Given the description of an element on the screen output the (x, y) to click on. 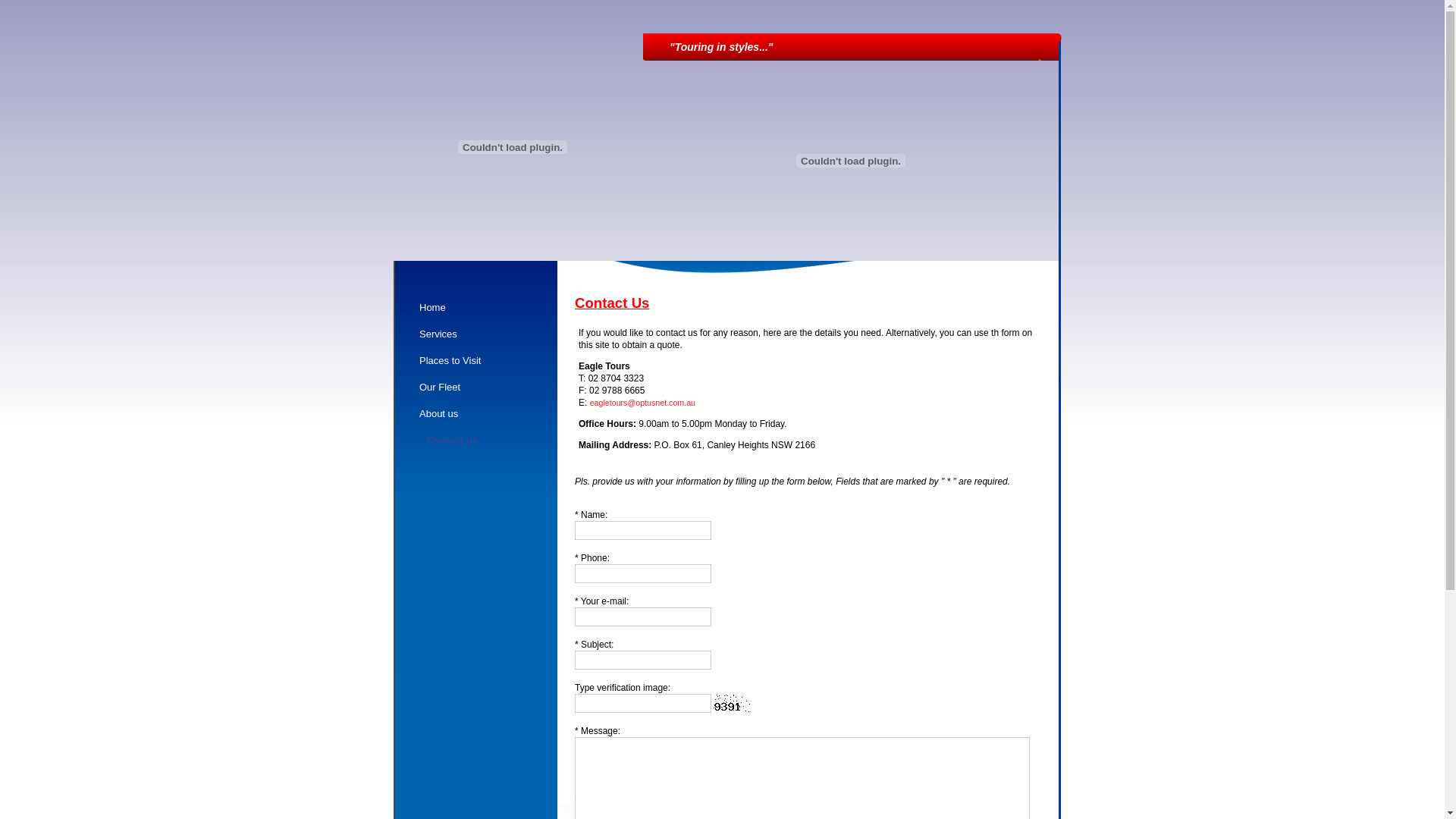
Our Fleet Element type: text (483, 390)
Services Element type: text (483, 337)
Contact us Element type: text (486, 443)
Places to Visit Element type: text (483, 364)
About us Element type: text (483, 417)
Home Element type: text (483, 311)
eagletours@optusnet.com.au Element type: text (642, 402)
